Given the description of an element on the screen output the (x, y) to click on. 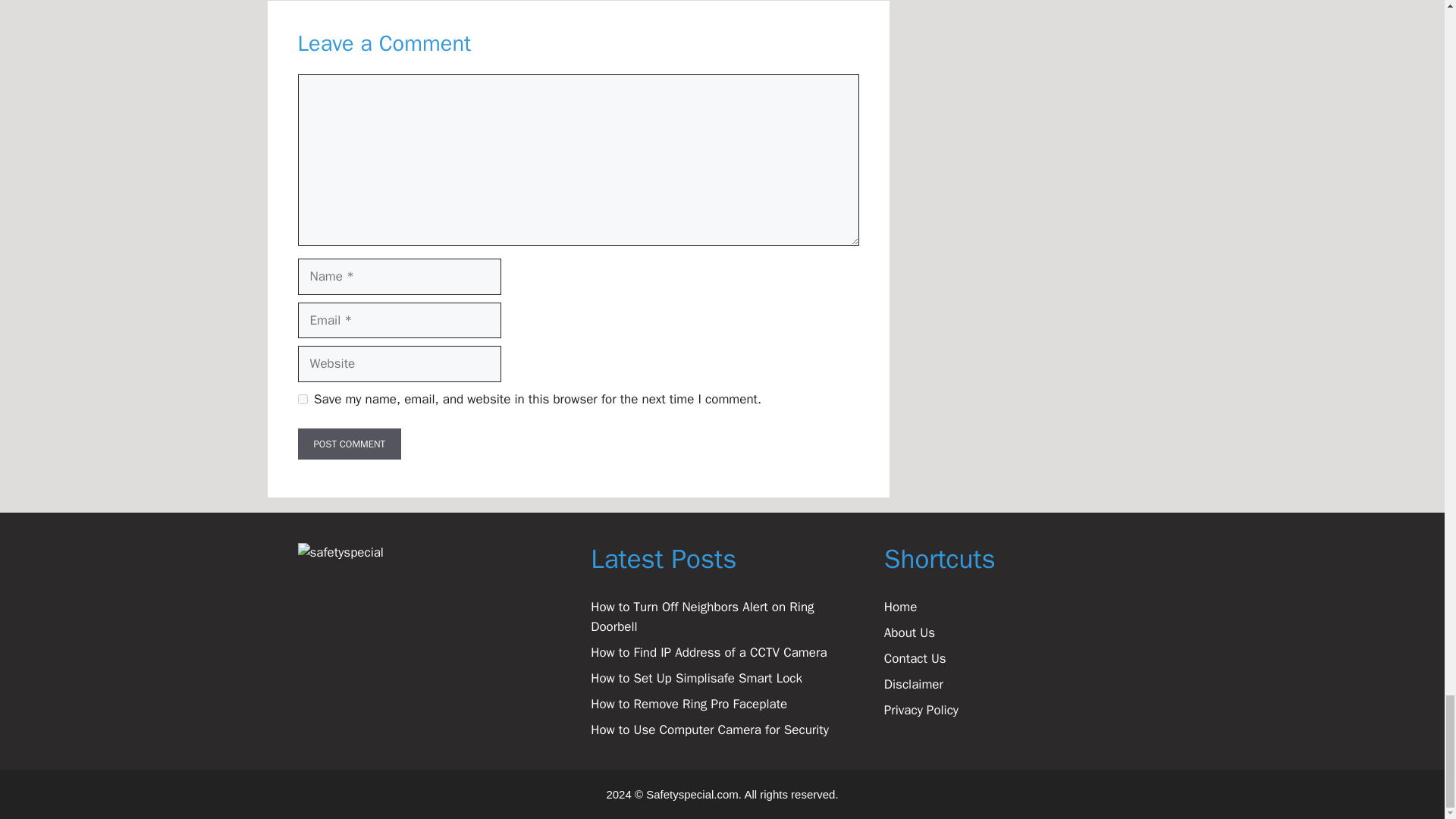
About Us (908, 632)
How to Turn Off Neighbors Alert on Ring Doorbell (702, 616)
How to Set Up Simplisafe Smart Lock (696, 678)
How to Find IP Address of a CCTV Camera (709, 652)
Post Comment (349, 444)
Home (900, 606)
Privacy Policy (920, 709)
yes (302, 398)
Disclaimer (913, 684)
Contact Us (914, 658)
